Given the description of an element on the screen output the (x, y) to click on. 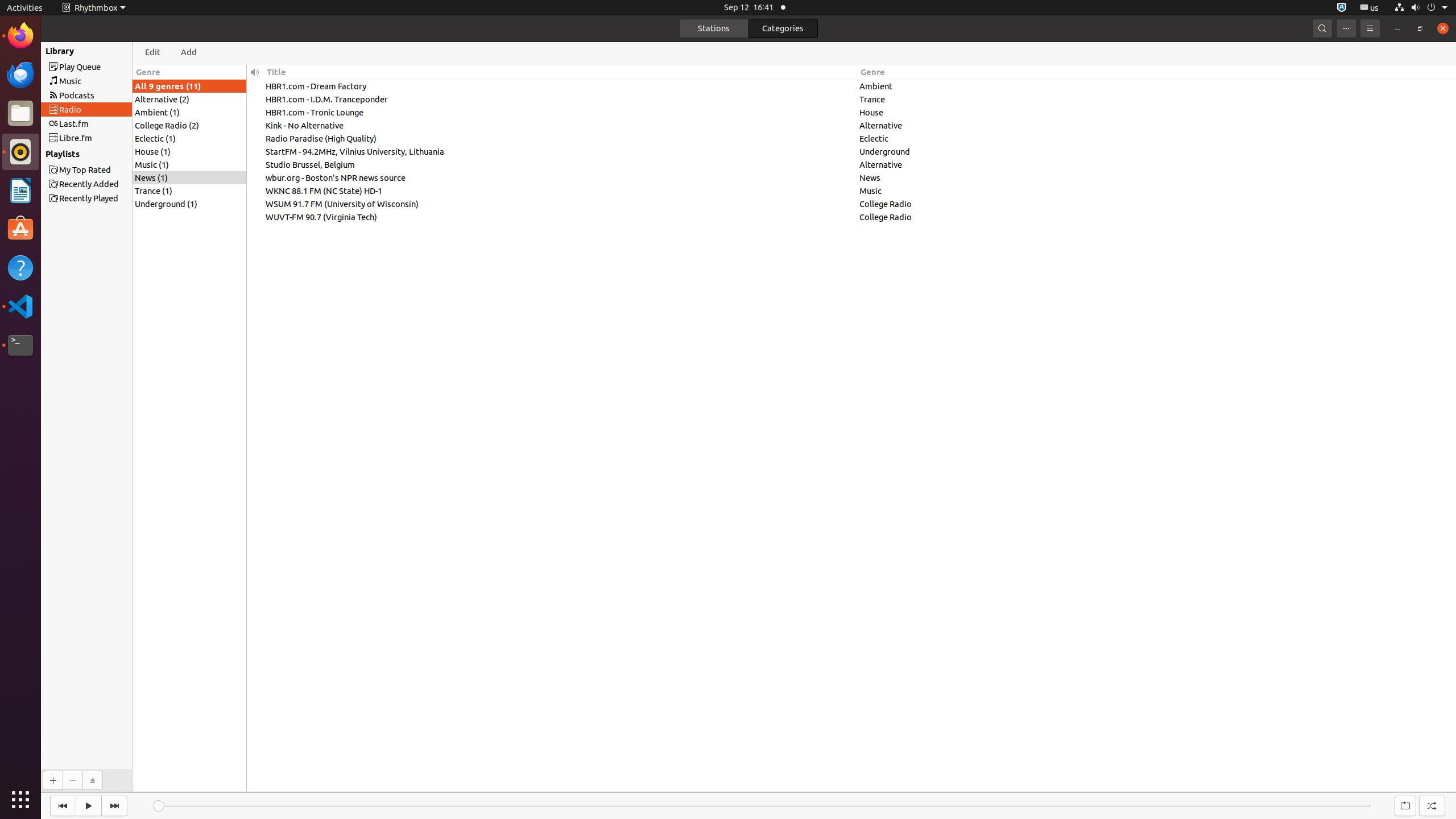
Recently Added Element type: table-cell (106, 183)
Terminal Element type: push-button (20, 344)
Play Queue Element type: table-cell (106, 66)
WUVT-FM 90.7 (Virginia Tech) Element type: table-cell (559, 216)
